Given the description of an element on the screen output the (x, y) to click on. 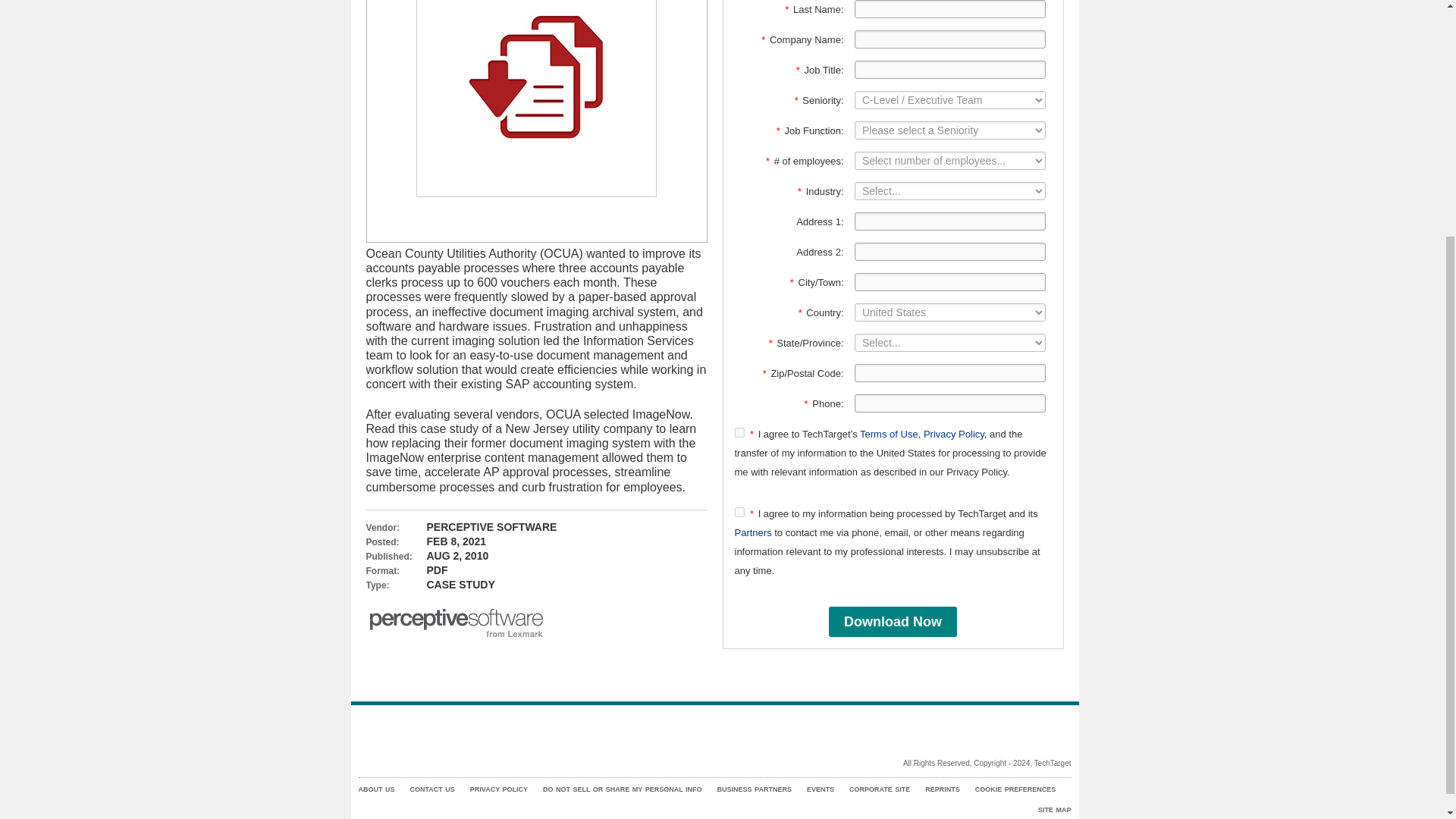
Download Now (892, 621)
Terms of Use (889, 433)
BUSINESS PARTNERS (754, 789)
Download Now (892, 621)
DO NOT SELL OR SHARE MY PERSONAL INFO (622, 789)
REPRINTS (941, 789)
true (738, 511)
EVENTS (820, 789)
ABOUT US (376, 789)
Partners (752, 532)
SITE MAP (1054, 809)
Privacy Policy (953, 433)
true (738, 432)
CONTACT US (431, 789)
CORPORATE SITE (879, 789)
